Given the description of an element on the screen output the (x, y) to click on. 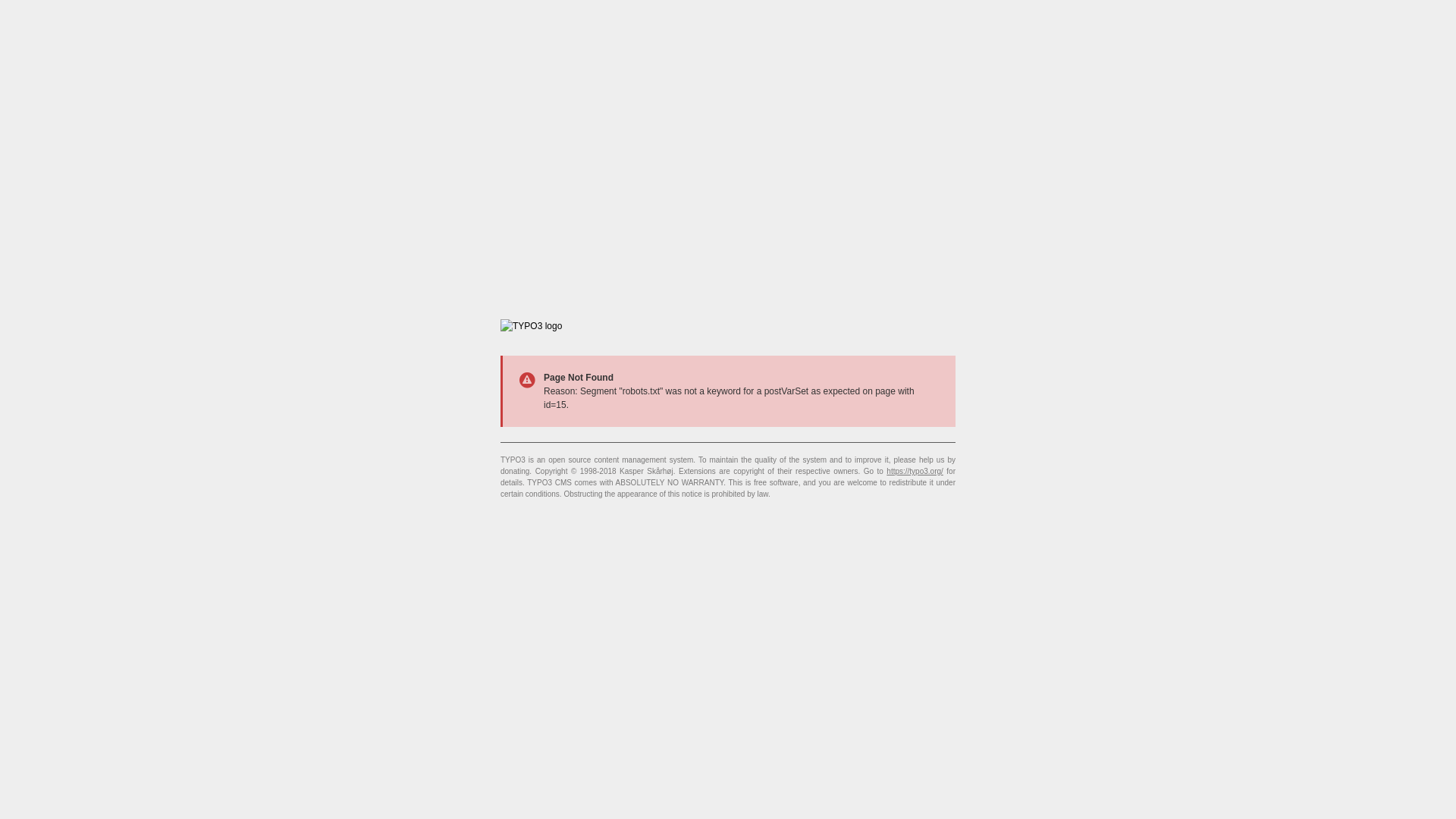
https://typo3.org/ Element type: text (914, 471)
